Given the description of an element on the screen output the (x, y) to click on. 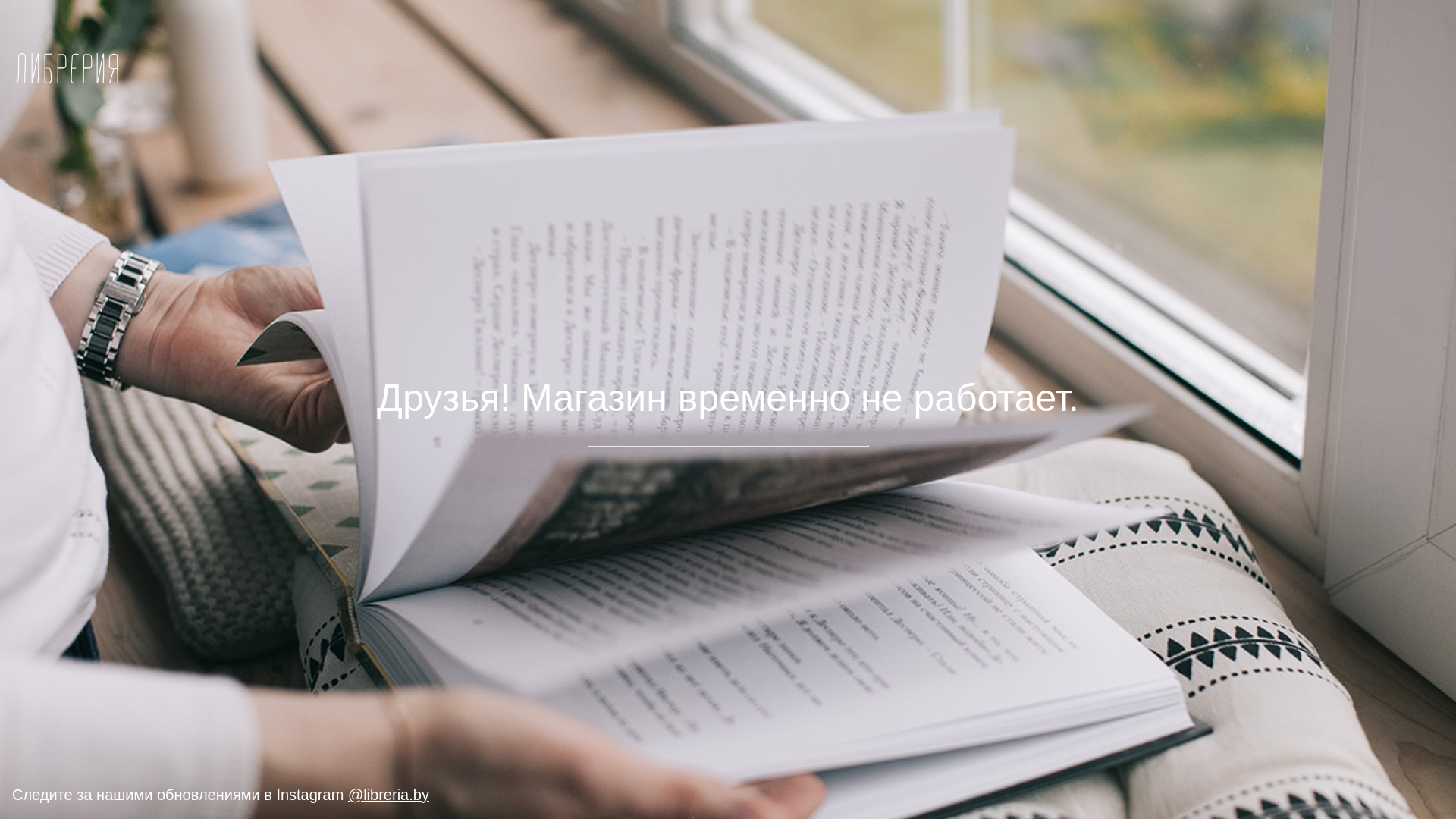
@libreria.by Element type: text (388, 794)
